Given the description of an element on the screen output the (x, y) to click on. 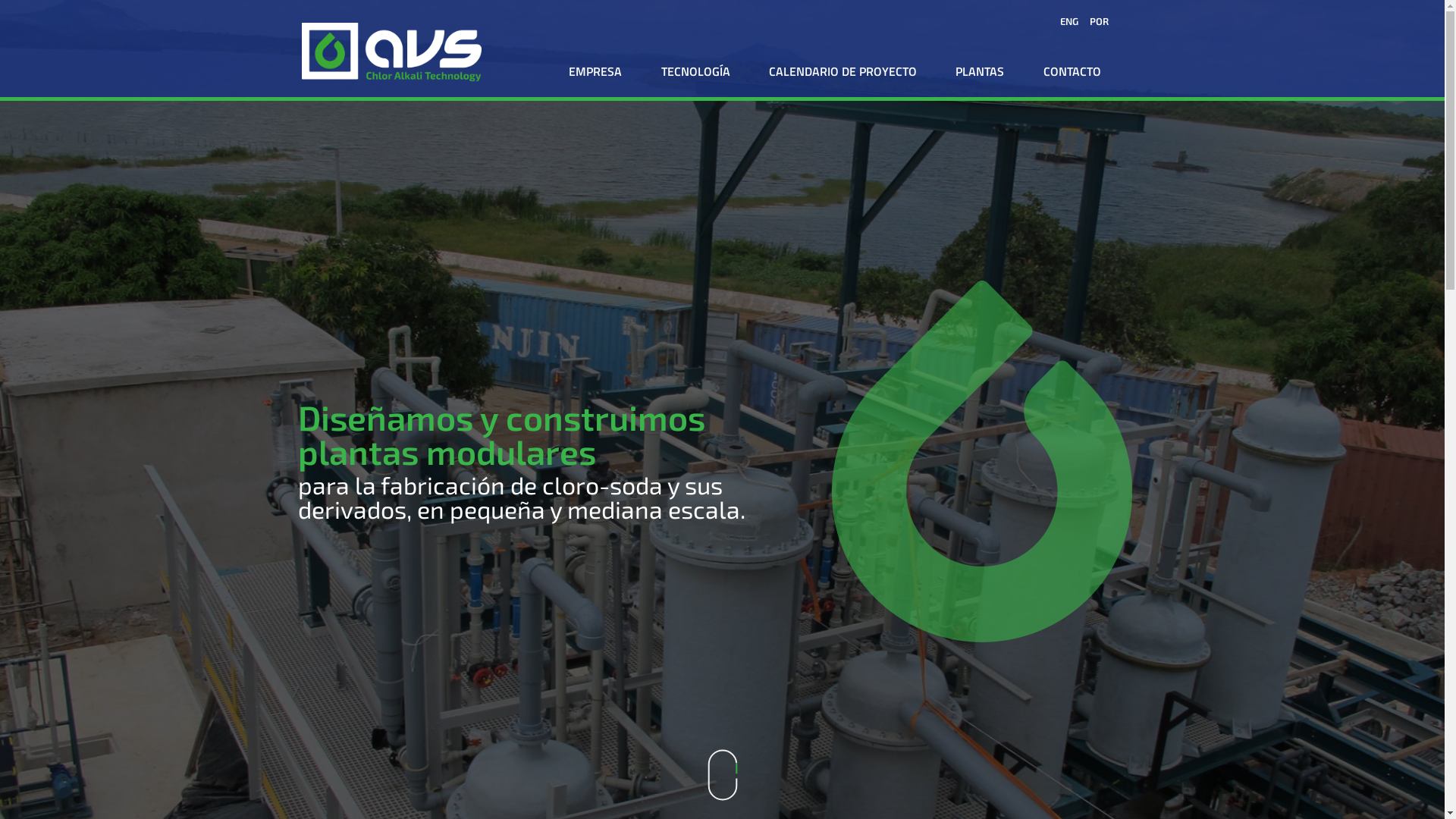
POR Element type: text (1095, 20)
CONTACTO Element type: text (1071, 71)
CALENDARIO DE PROYECTO Element type: text (842, 71)
PLANTAS Element type: text (979, 71)
EMPRESA Element type: text (595, 71)
ENG Element type: text (1065, 20)
DIAPO SOBRE AZUL Element type: hover (391, 51)
